Given the description of an element on the screen output the (x, y) to click on. 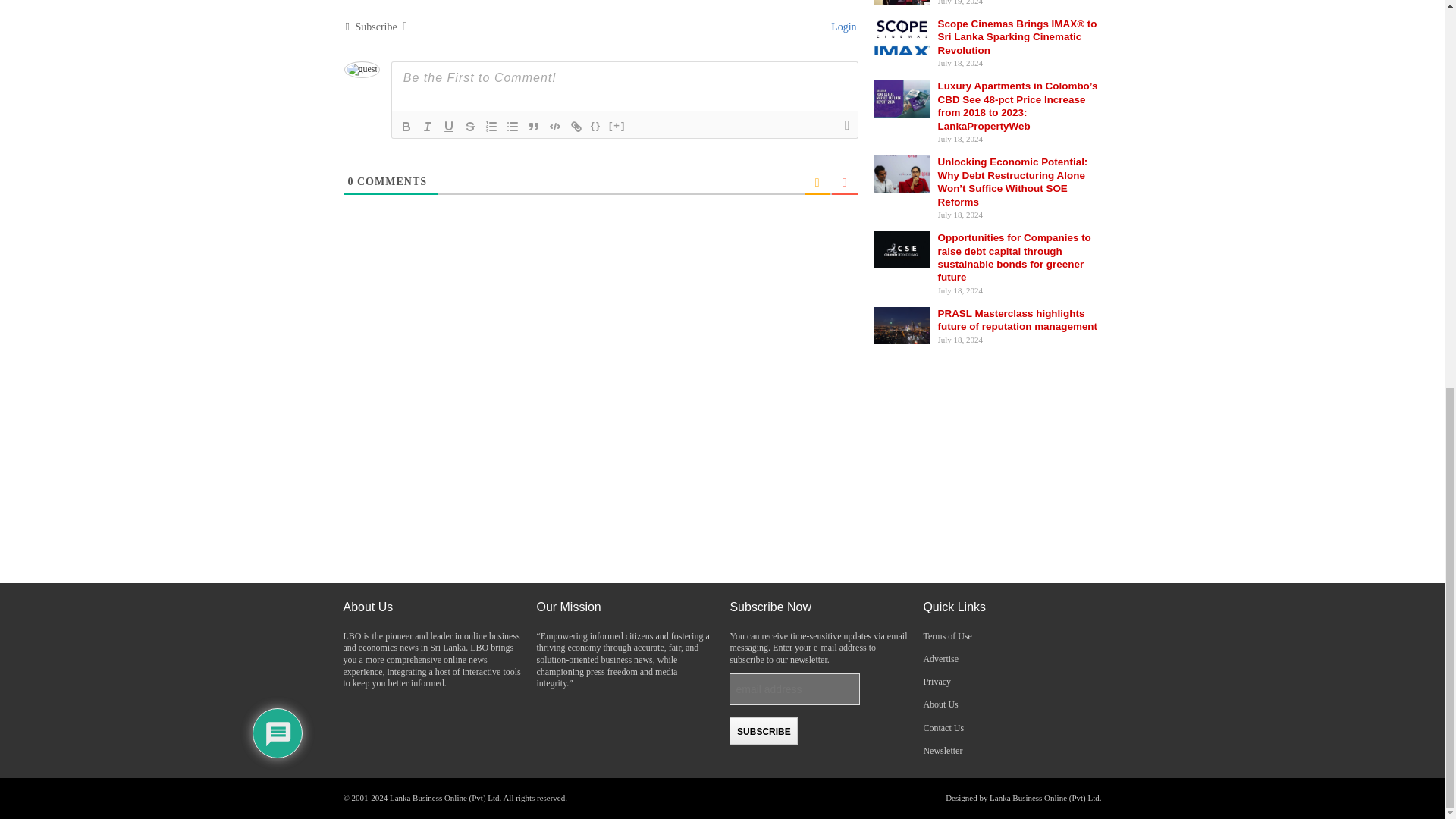
Code Block (555, 126)
Italic (427, 126)
Blockquote (533, 126)
Source Code (595, 126)
Strike (470, 126)
Link (576, 126)
Underline (449, 126)
Bold (406, 126)
Subscribe (763, 730)
Ordered List (491, 126)
Unordered List (512, 126)
